Given the description of an element on the screen output the (x, y) to click on. 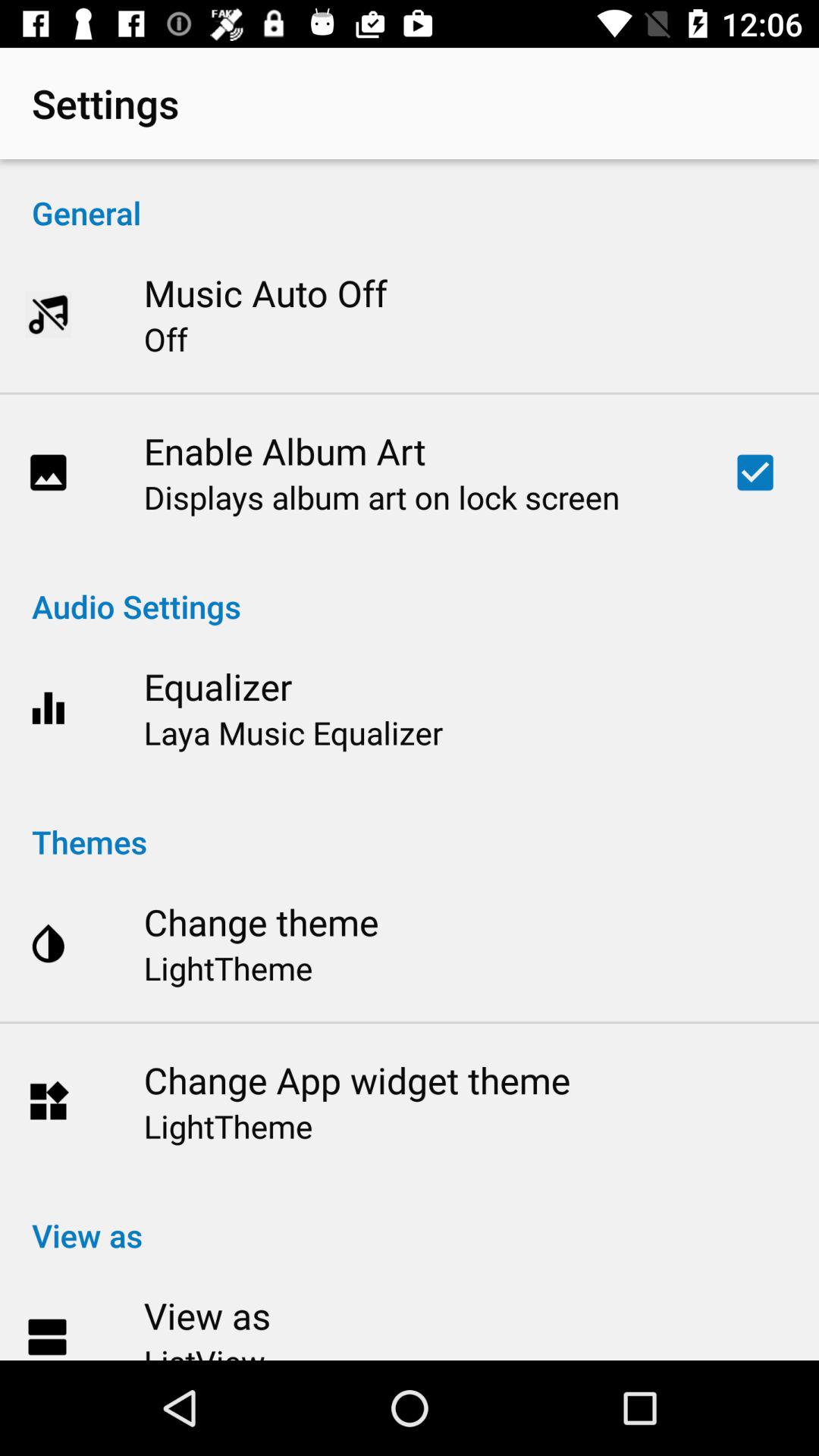
click icon below the equalizer item (293, 732)
